Given the description of an element on the screen output the (x, y) to click on. 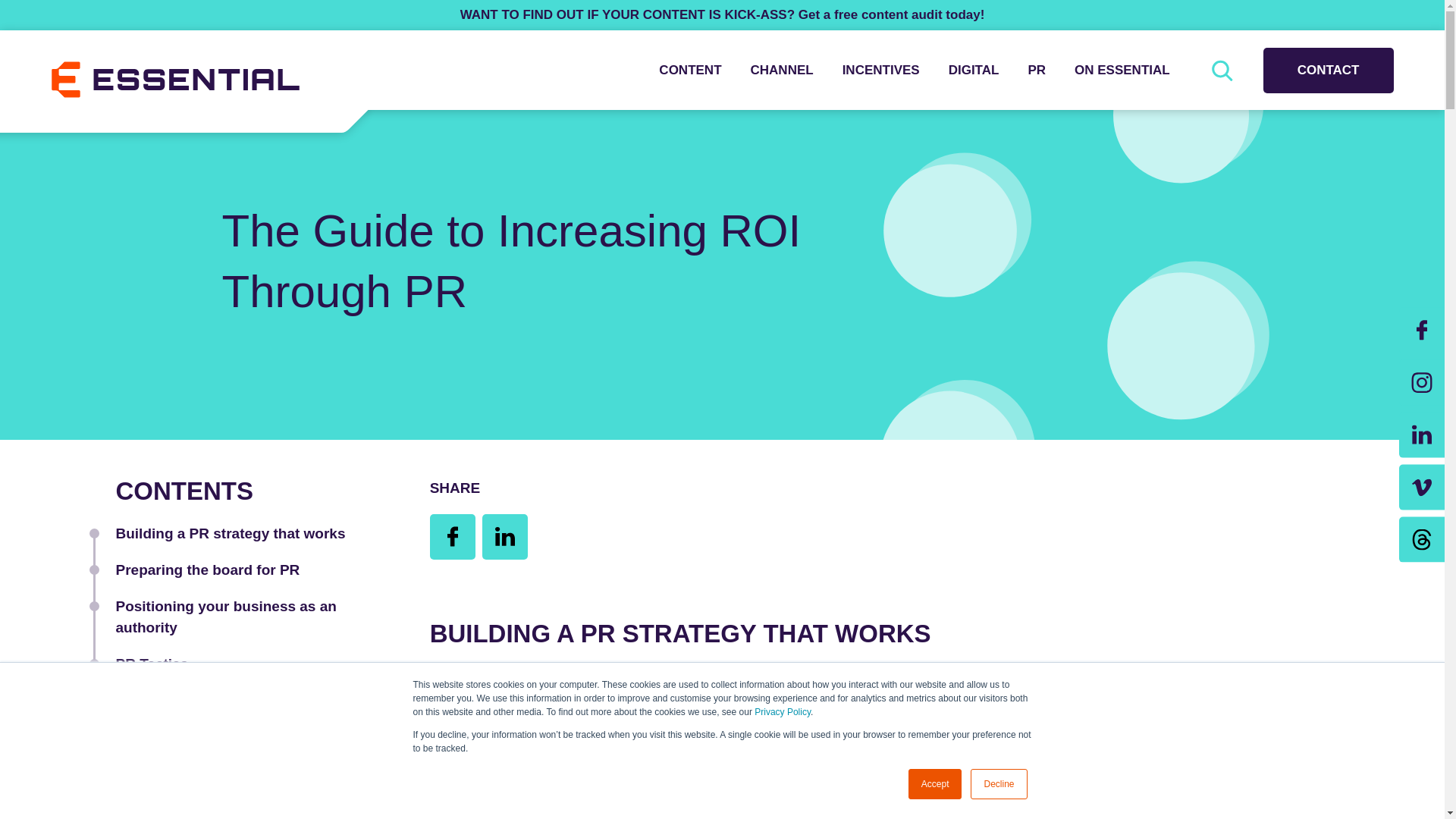
Reporting on PR activity (198, 700)
Privacy Policy (782, 711)
CONTACT (1328, 69)
Positioning your business as an authority (225, 616)
DIGITAL (973, 69)
Building a PR strategy that works (230, 533)
PR Tactics (151, 663)
CONTENT (689, 69)
Decline (998, 784)
